Given the description of an element on the screen output the (x, y) to click on. 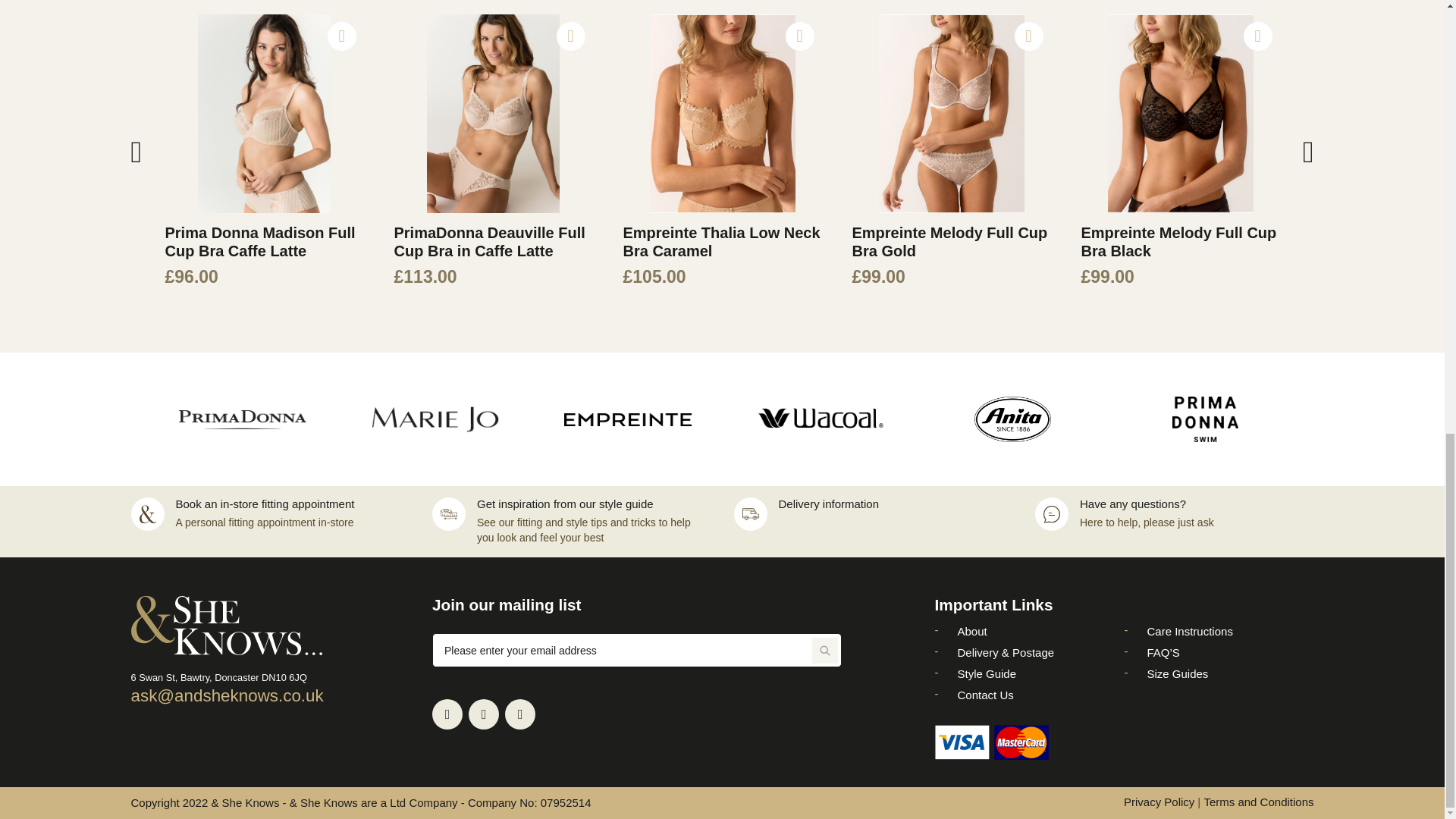
Submit (825, 650)
